Given the description of an element on the screen output the (x, y) to click on. 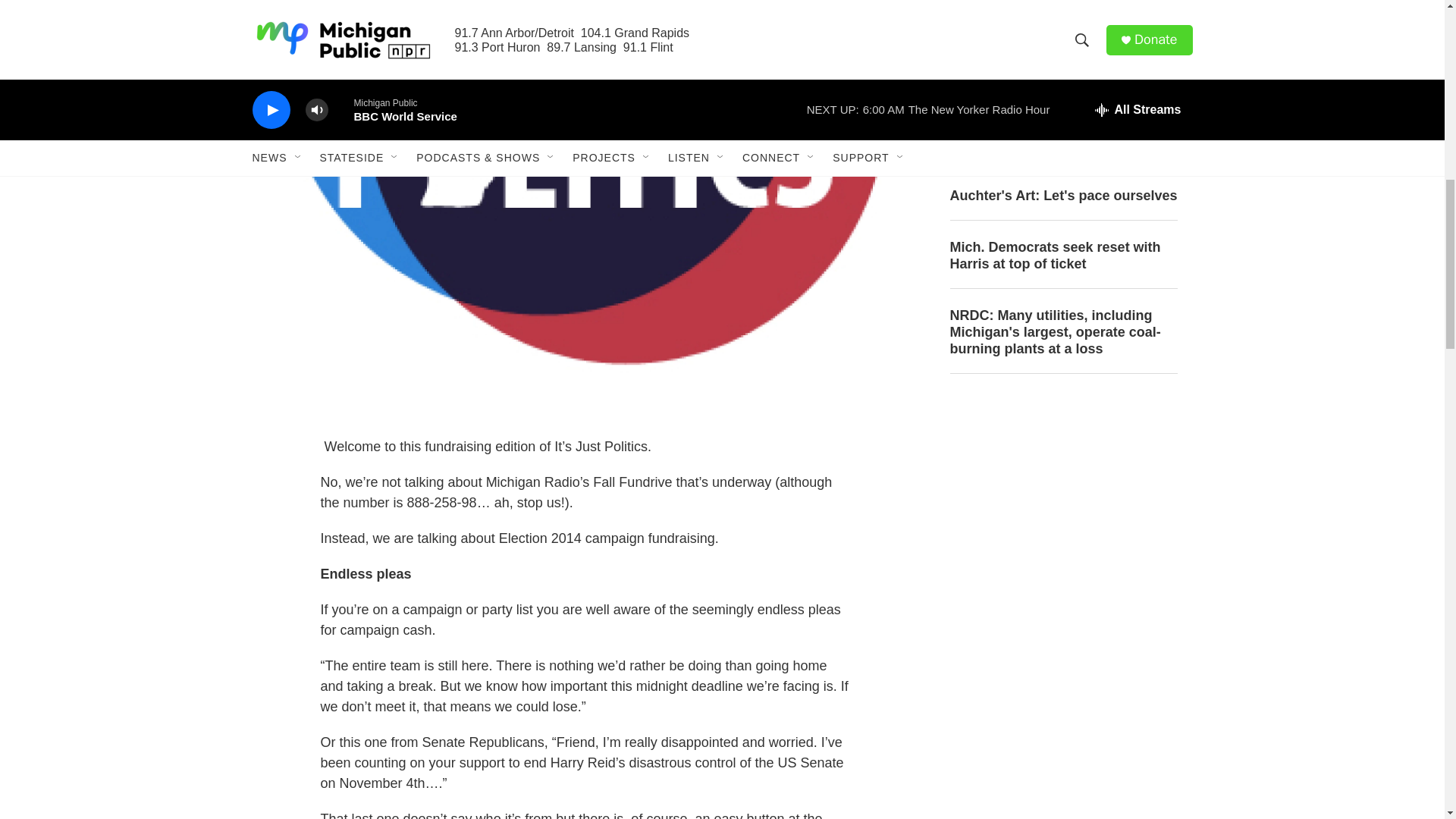
3rd party ad content (1062, 740)
3rd party ad content (1062, 517)
